Given the description of an element on the screen output the (x, y) to click on. 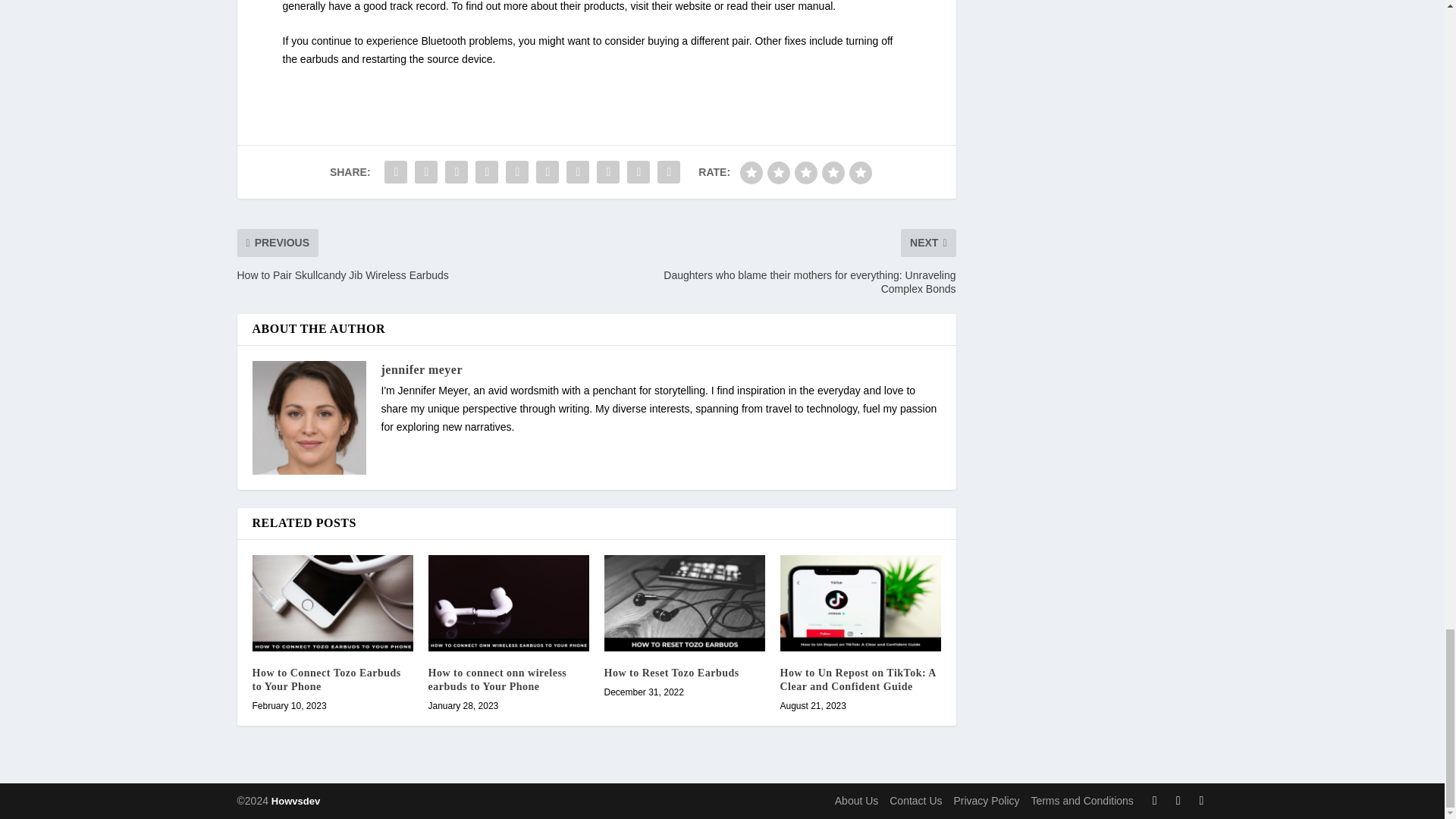
Share "How to Connect JLab Earbuds to iPhone" via Email (638, 172)
Share "How to Connect JLab Earbuds to iPhone" via Tumblr (486, 172)
Share "How to Connect JLab Earbuds to iPhone" via Facebook (395, 172)
Share "How to Connect JLab Earbuds to iPhone" via Buffer (577, 172)
Share "How to Connect JLab Earbuds to iPhone" via Pinterest (517, 172)
Share "How to Connect JLab Earbuds to iPhone" via Twitter (425, 172)
Share "How to Connect JLab Earbuds to iPhone" via LinkedIn (547, 172)
